Given the description of an element on the screen output the (x, y) to click on. 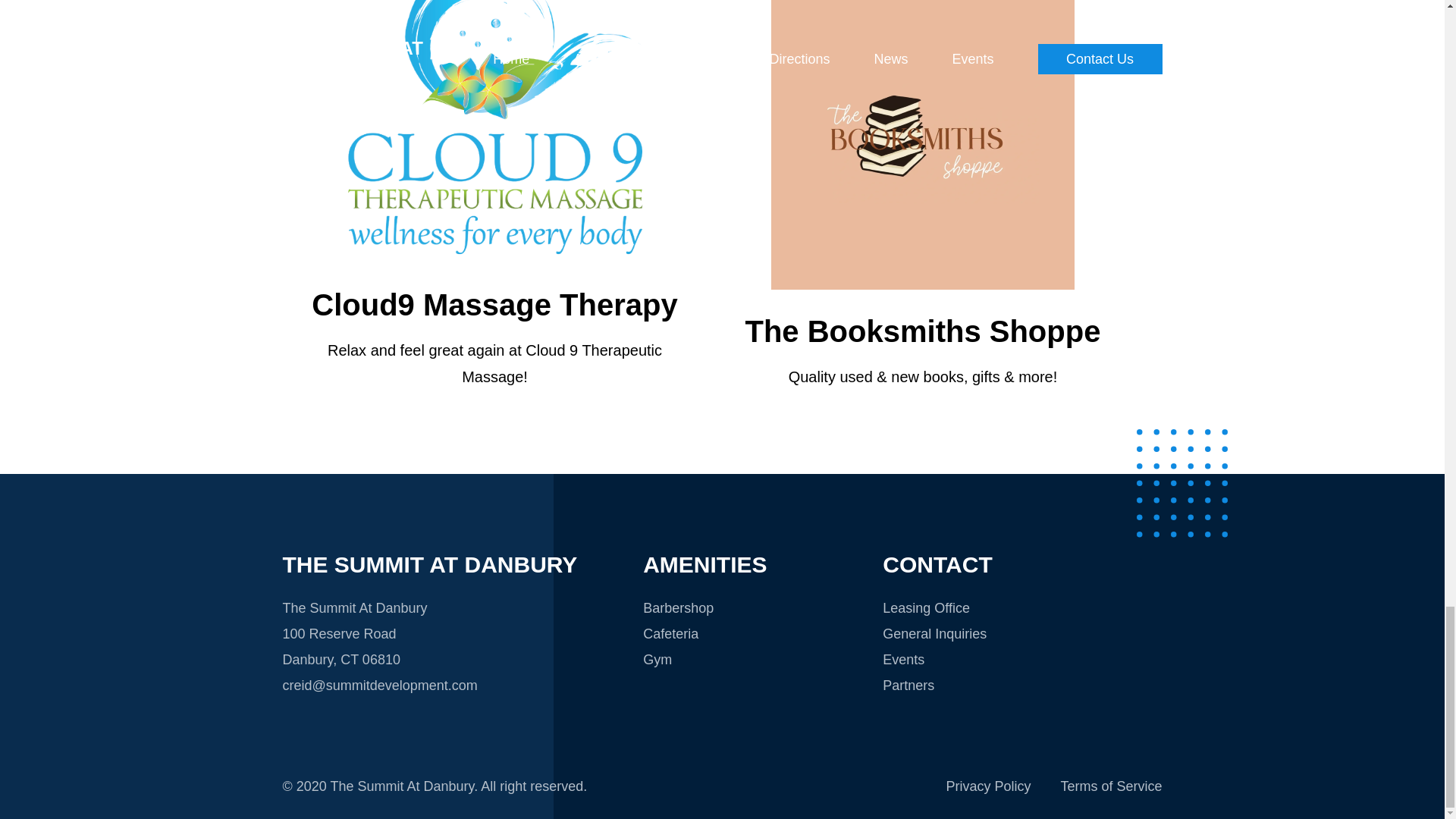
The Booksmiths Shoppe (922, 331)
Barbershop (678, 607)
Leasing Office (925, 607)
Gym (657, 659)
Cafeteria (670, 633)
Cloud9 Massage Therapy (494, 304)
